Given the description of an element on the screen output the (x, y) to click on. 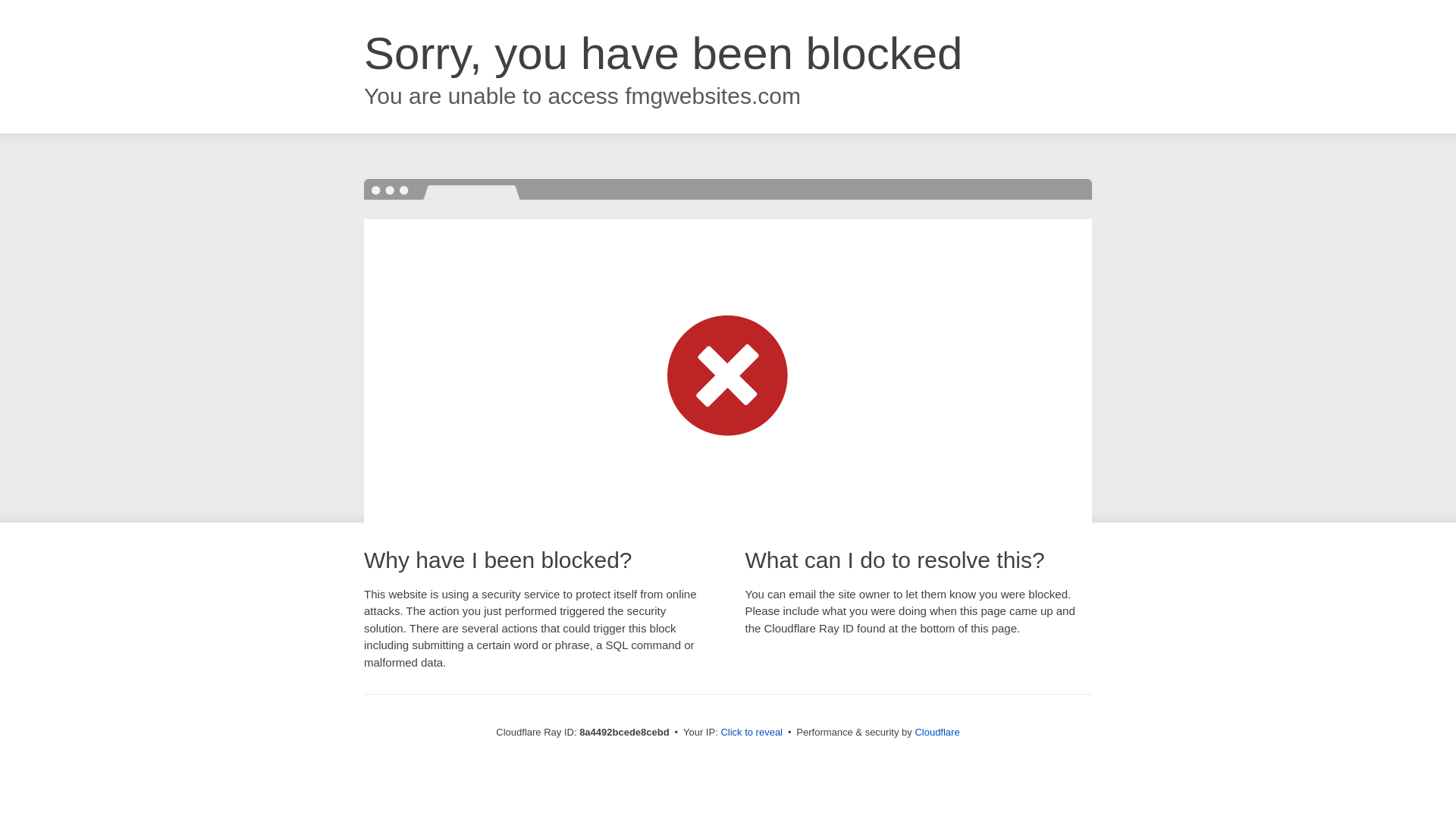
Click to reveal (751, 732)
Cloudflare (936, 731)
